Given the description of an element on the screen output the (x, y) to click on. 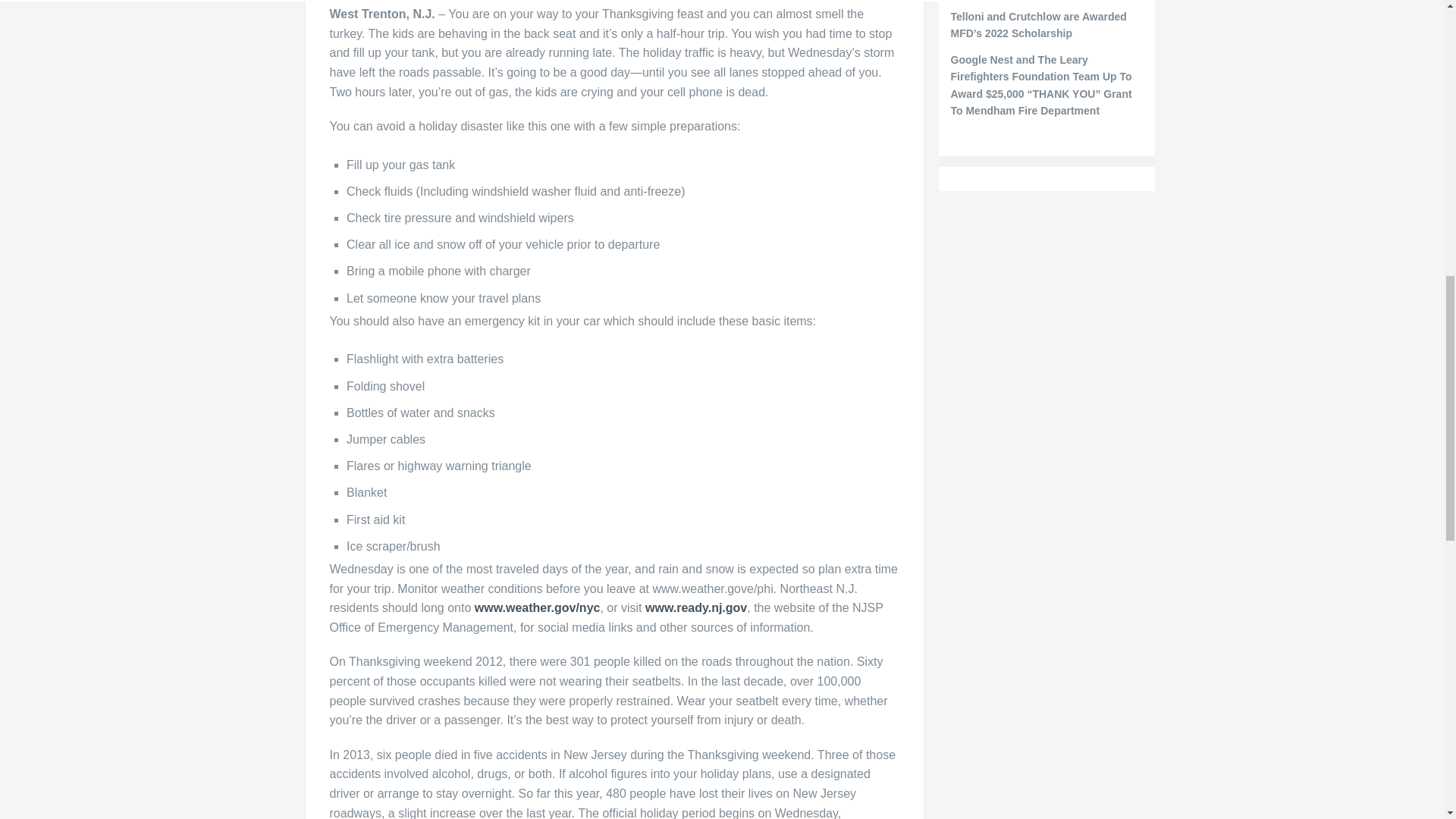
www.ready.nj.gov (695, 607)
